Given the description of an element on the screen output the (x, y) to click on. 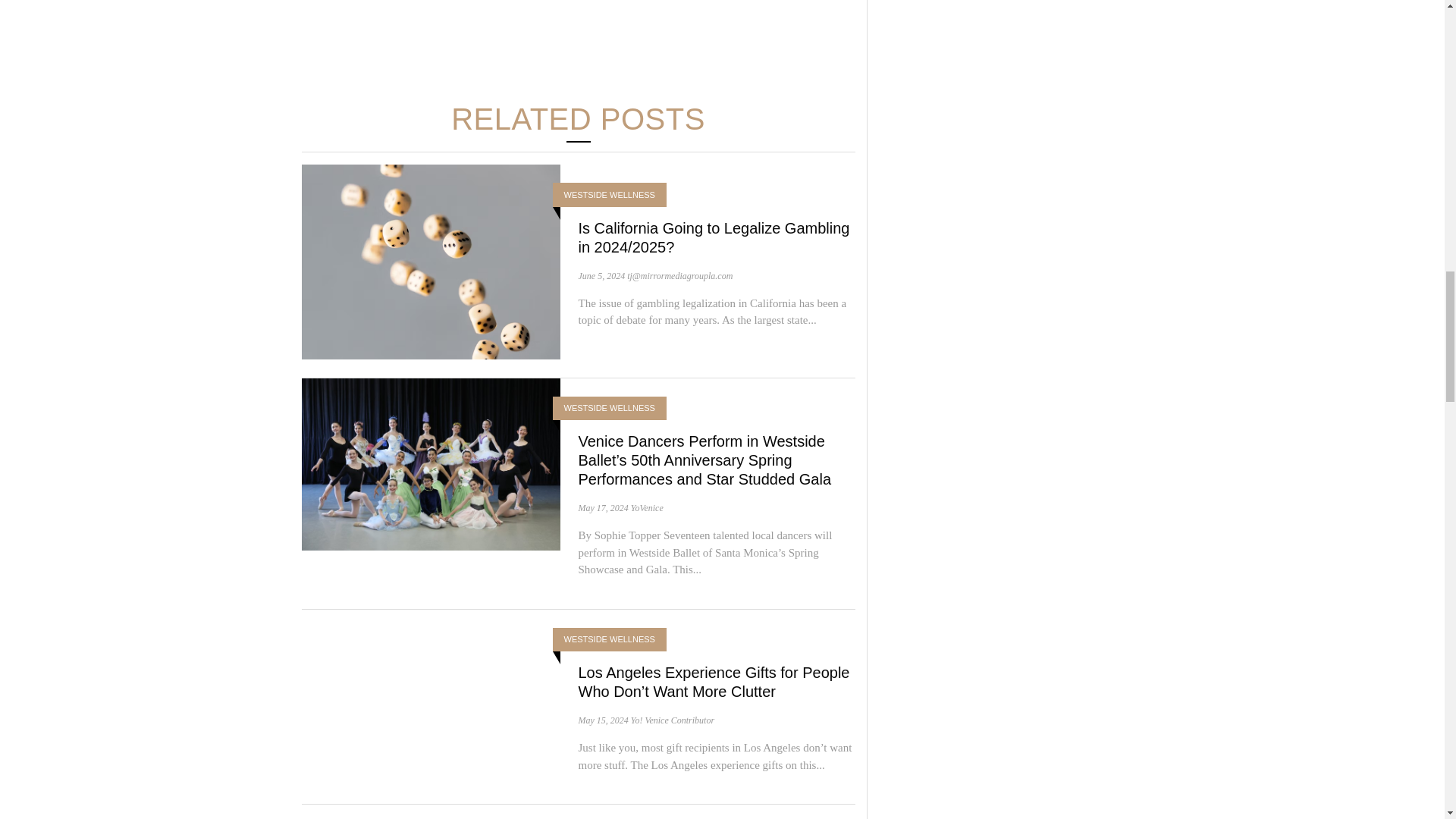
Posts by YoVenice (646, 507)
Posts by Yo! Venice Contributor (672, 719)
WESTSIDE WELLNESS (609, 195)
